Given the description of an element on the screen output the (x, y) to click on. 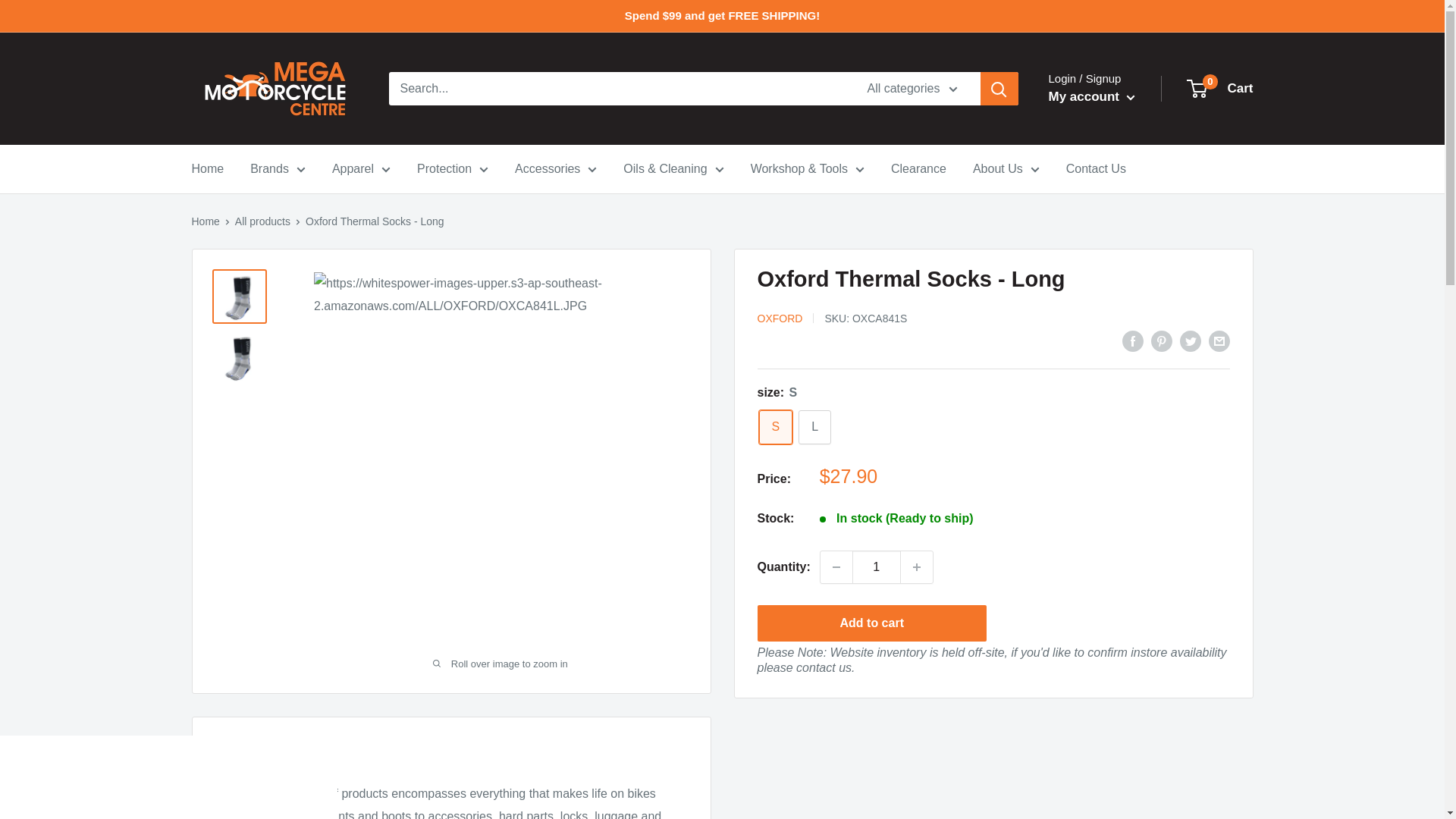
S (775, 427)
1 (876, 567)
Increase quantity by 1 (917, 567)
Decrease quantity by 1 (836, 567)
L (814, 427)
